Given the description of an element on the screen output the (x, y) to click on. 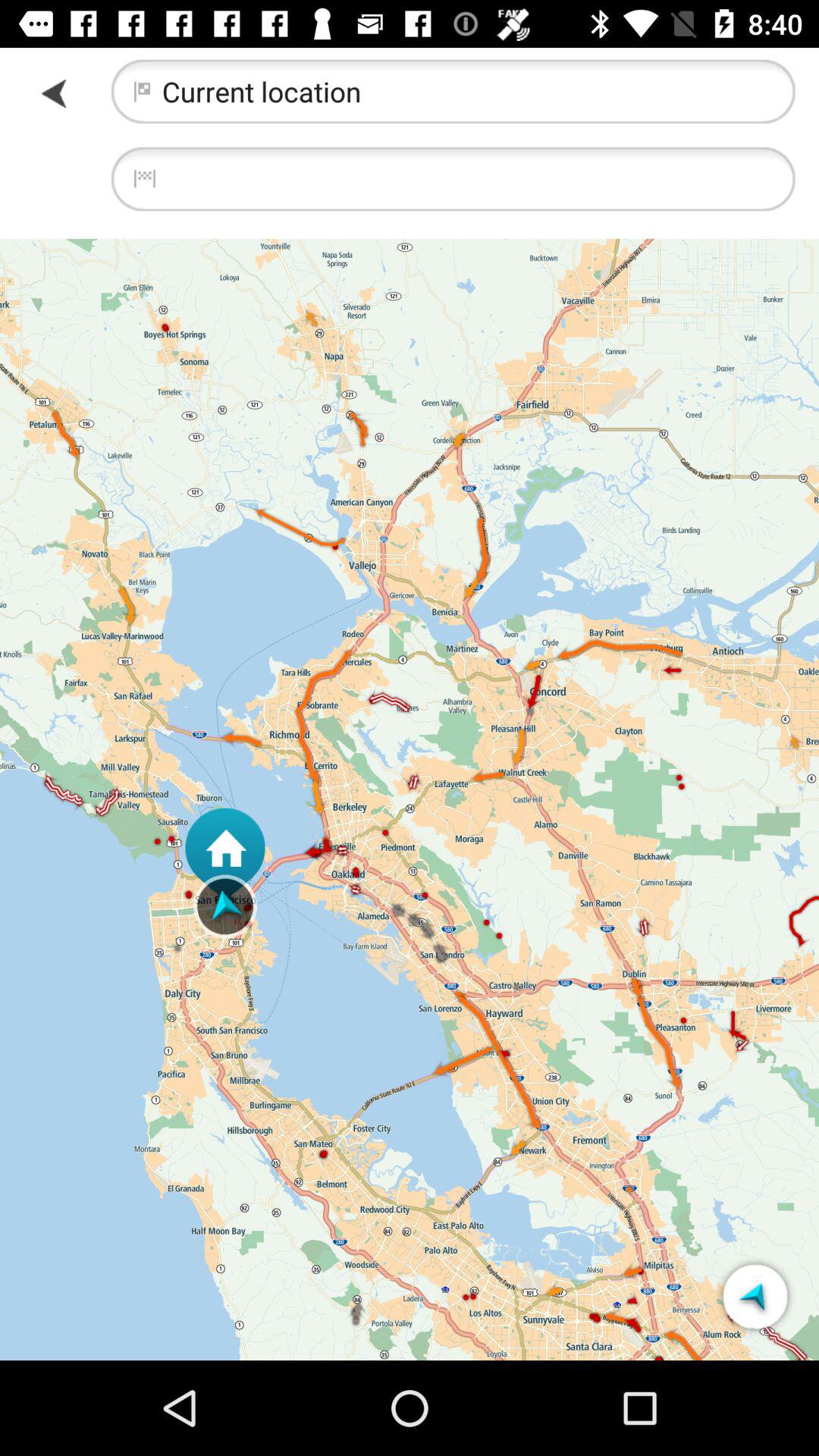
jump until current location icon (453, 91)
